Given the description of an element on the screen output the (x, y) to click on. 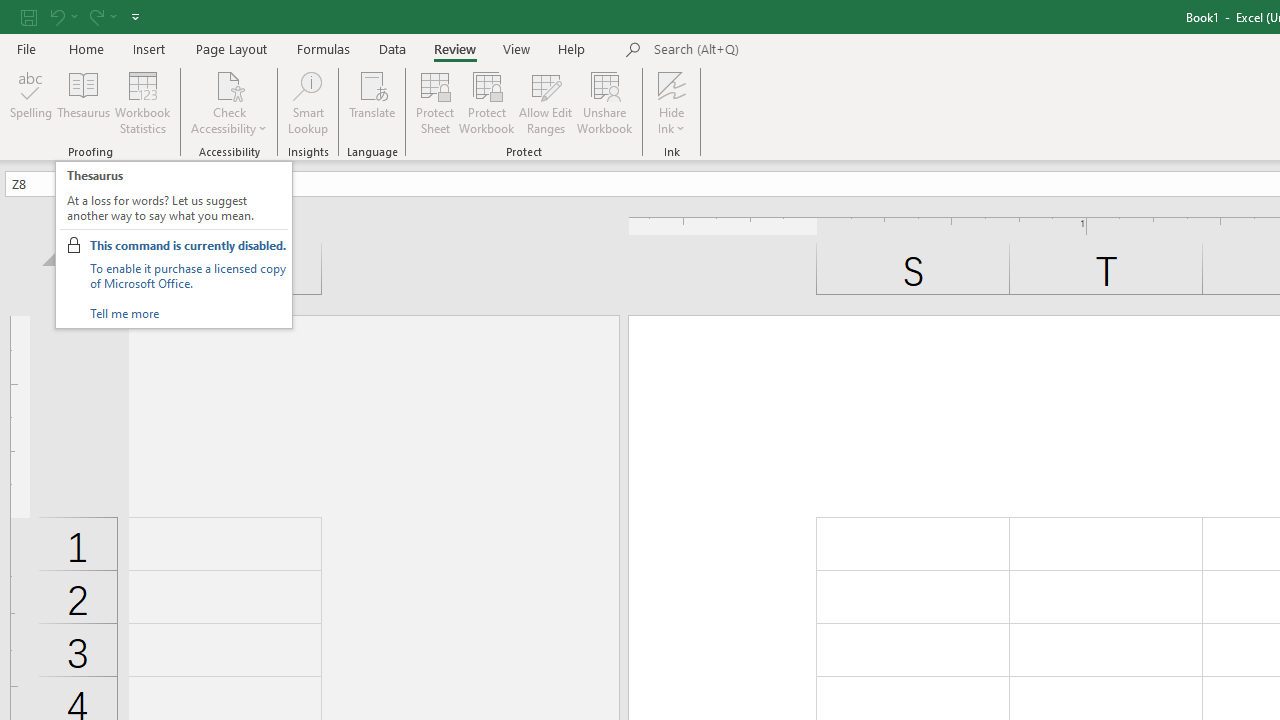
Smart Lookup (308, 102)
Unshare Workbook (604, 102)
Translate (372, 102)
Spelling... (31, 102)
Thesaurus... (83, 102)
